Given the description of an element on the screen output the (x, y) to click on. 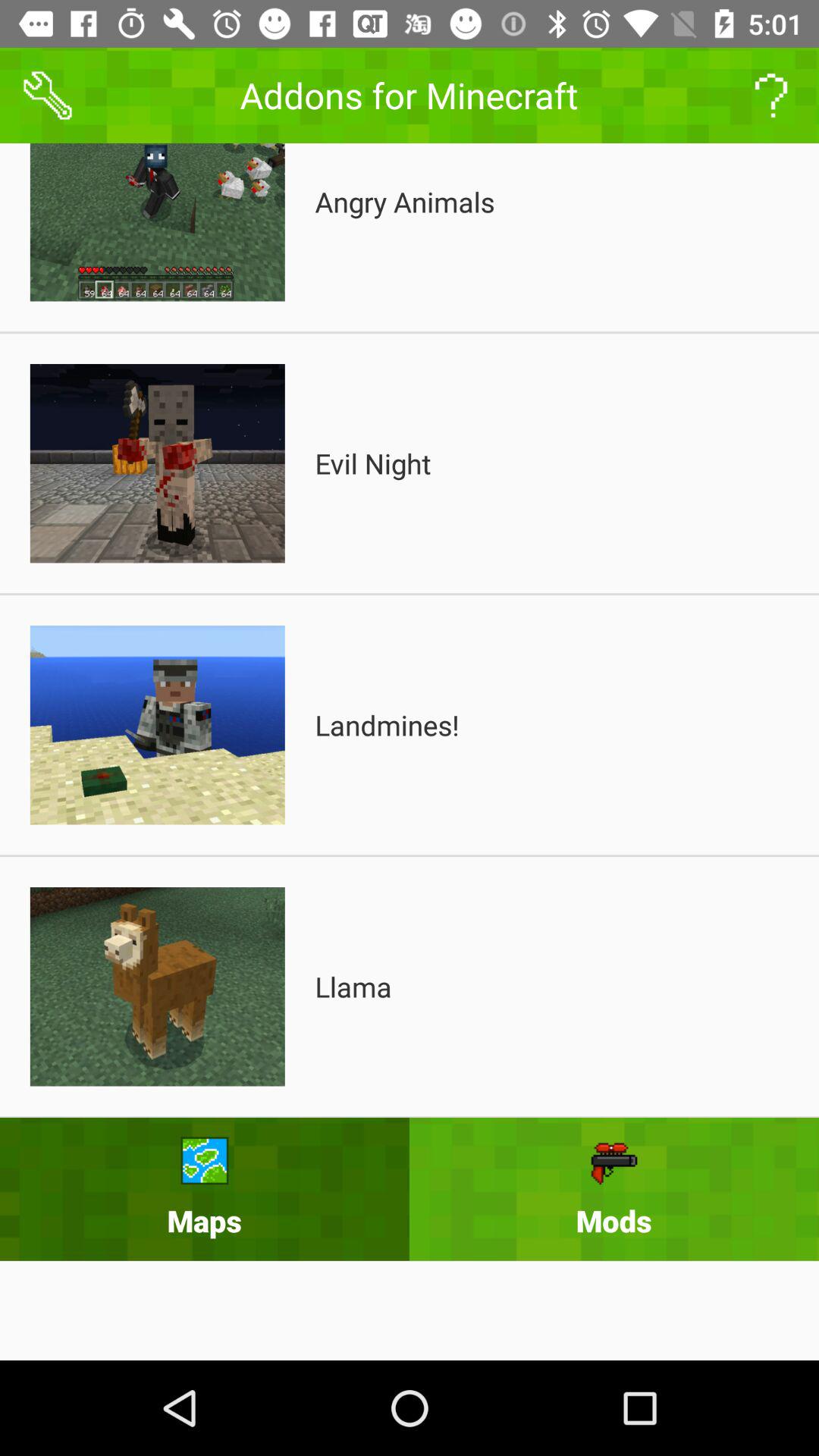
tap icon to the left of the addons for minecraft item (47, 95)
